Given the description of an element on the screen output the (x, y) to click on. 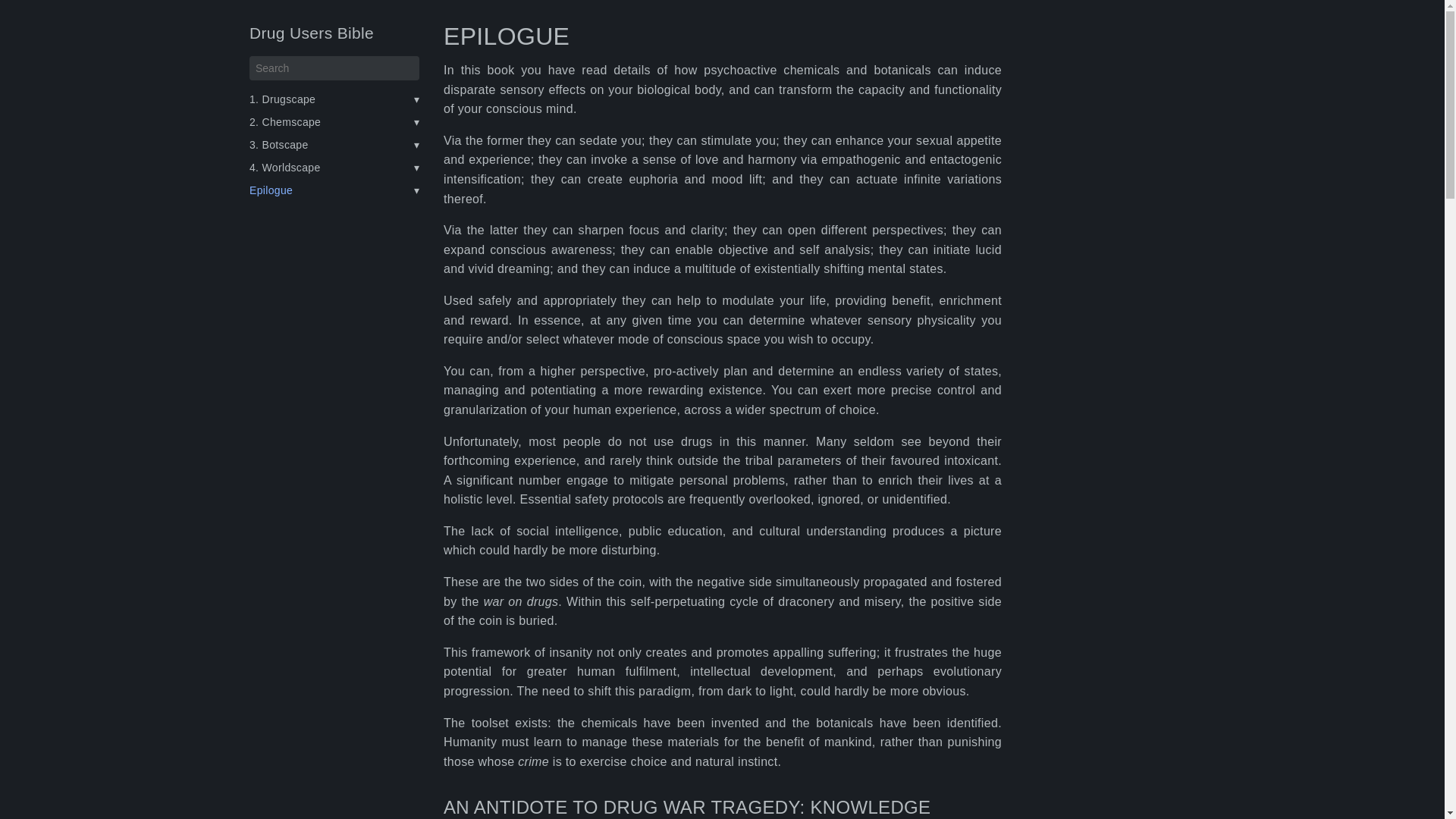
2. Chemscape (284, 121)
1. Drugscape (281, 99)
Drug Users Bible (310, 32)
